Given the description of an element on the screen output the (x, y) to click on. 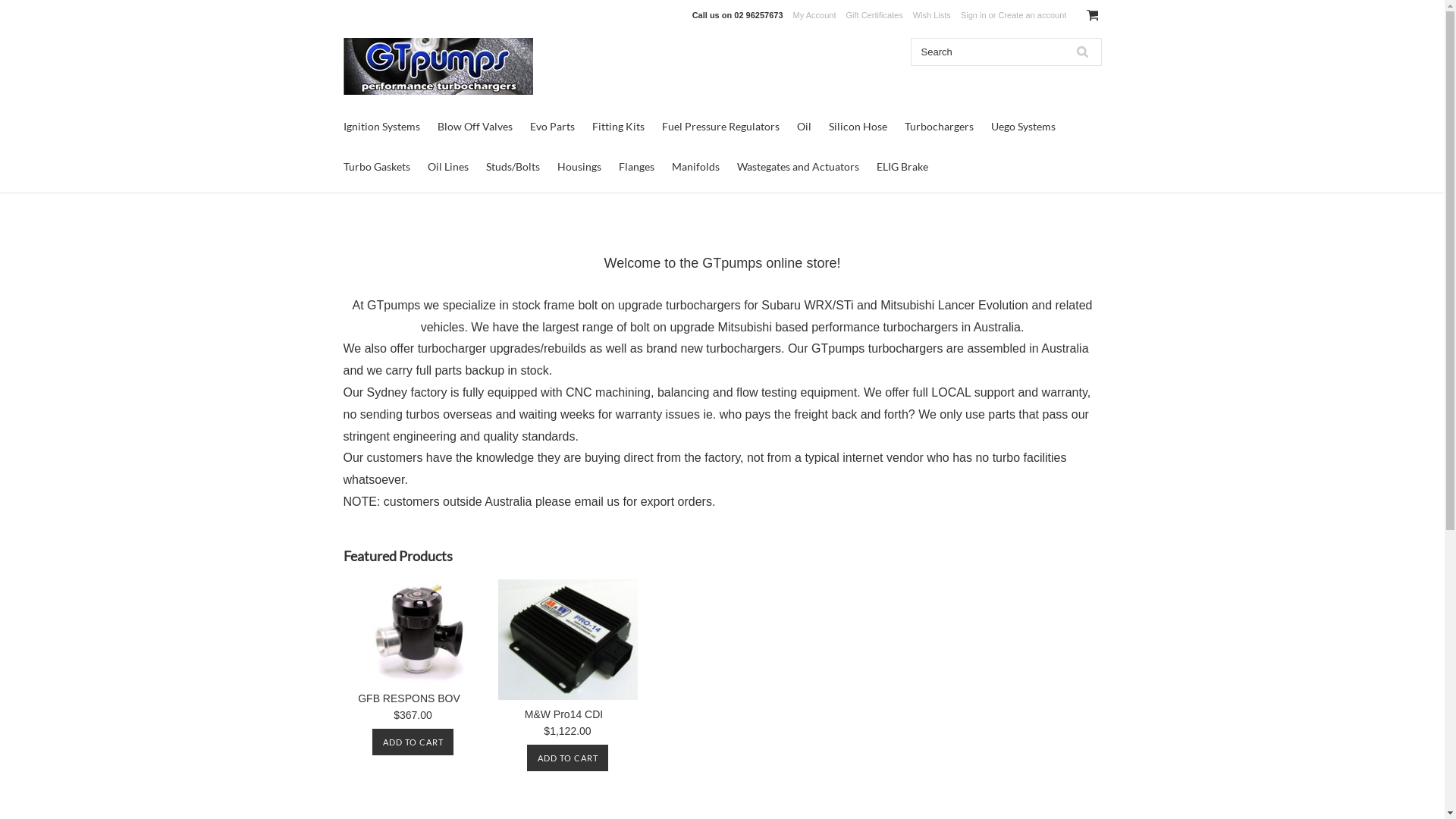
Wish Lists Element type: text (931, 14)
GFB RESPONS BOV Element type: text (408, 700)
Studs/Bolts Element type: text (512, 166)
ADD TO CART Element type: text (412, 741)
Fuel Pressure Regulators Element type: text (719, 125)
Gift Certificates Element type: text (874, 14)
Oil Element type: text (803, 125)
Fitting Kits Element type: text (617, 125)
Uego Systems Element type: text (1022, 125)
Oil Lines Element type: text (447, 166)
Create an account Element type: text (1031, 14)
M&W Pro14 CDI Element type: text (563, 715)
ELIG Brake Element type: text (902, 166)
Wastegates and Actuators Element type: text (798, 166)
Ignition Systems Element type: text (380, 125)
Flanges Element type: text (636, 166)
ADD TO CART Element type: text (567, 757)
Housings Element type: text (578, 166)
Silicon Hose Element type: text (857, 125)
Turbochargers Element type: text (937, 125)
Turbo Gaskets Element type: text (375, 166)
Blow Off Valves Element type: text (473, 125)
View Cart Element type: hover (1091, 14)
Search Element type: hover (1082, 51)
Sign in Element type: text (973, 14)
Manifolds Element type: text (695, 166)
Evo Parts Element type: text (551, 125)
My Account Element type: text (814, 14)
